Given the description of an element on the screen output the (x, y) to click on. 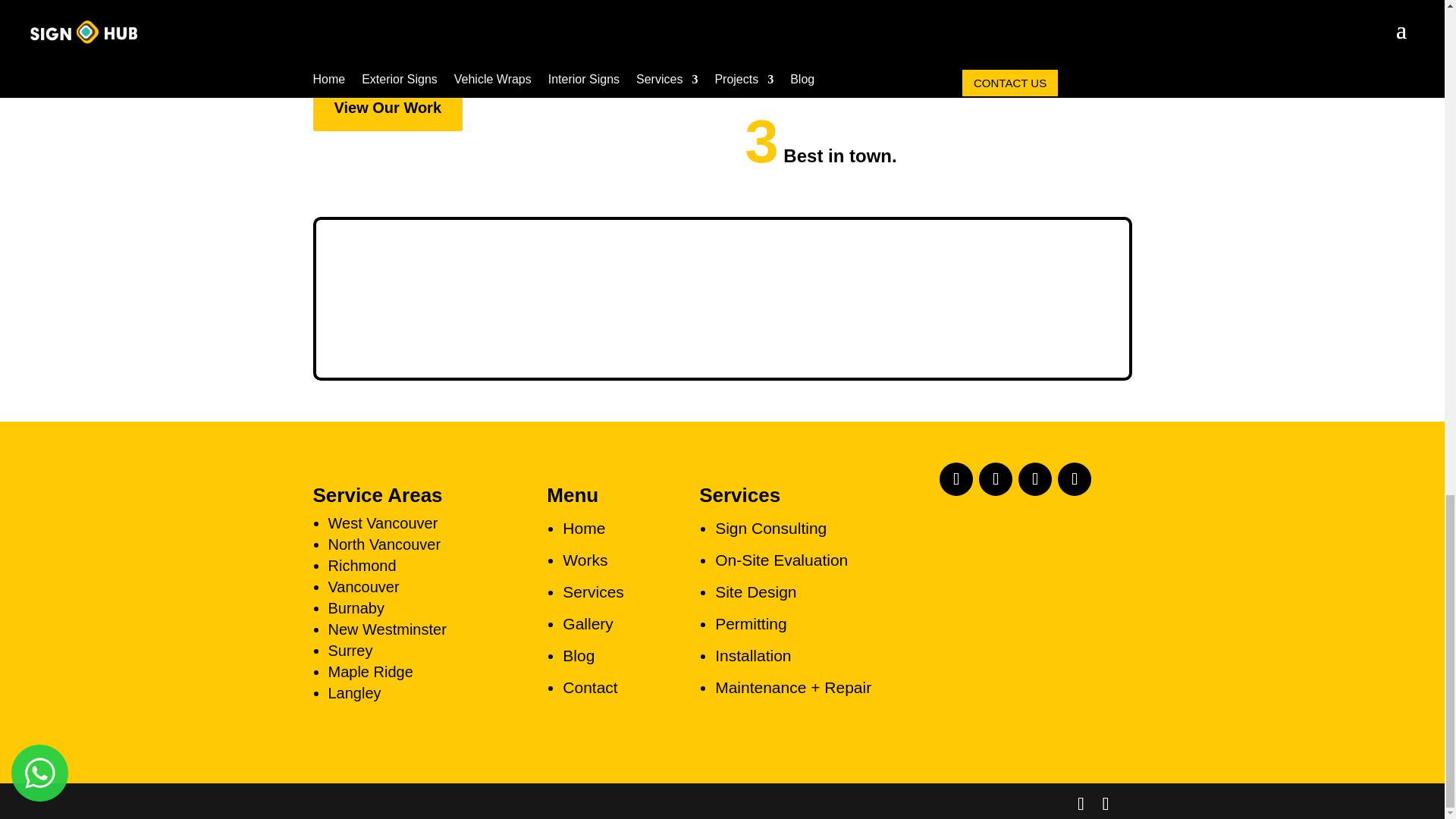
Follow on Instagram (1034, 479)
View Our Work (388, 107)
West Vancouver (382, 523)
Follow on Facebook (955, 479)
Follow on LinkedIn (1074, 479)
Follow on Youtube (994, 479)
